Given the description of an element on the screen output the (x, y) to click on. 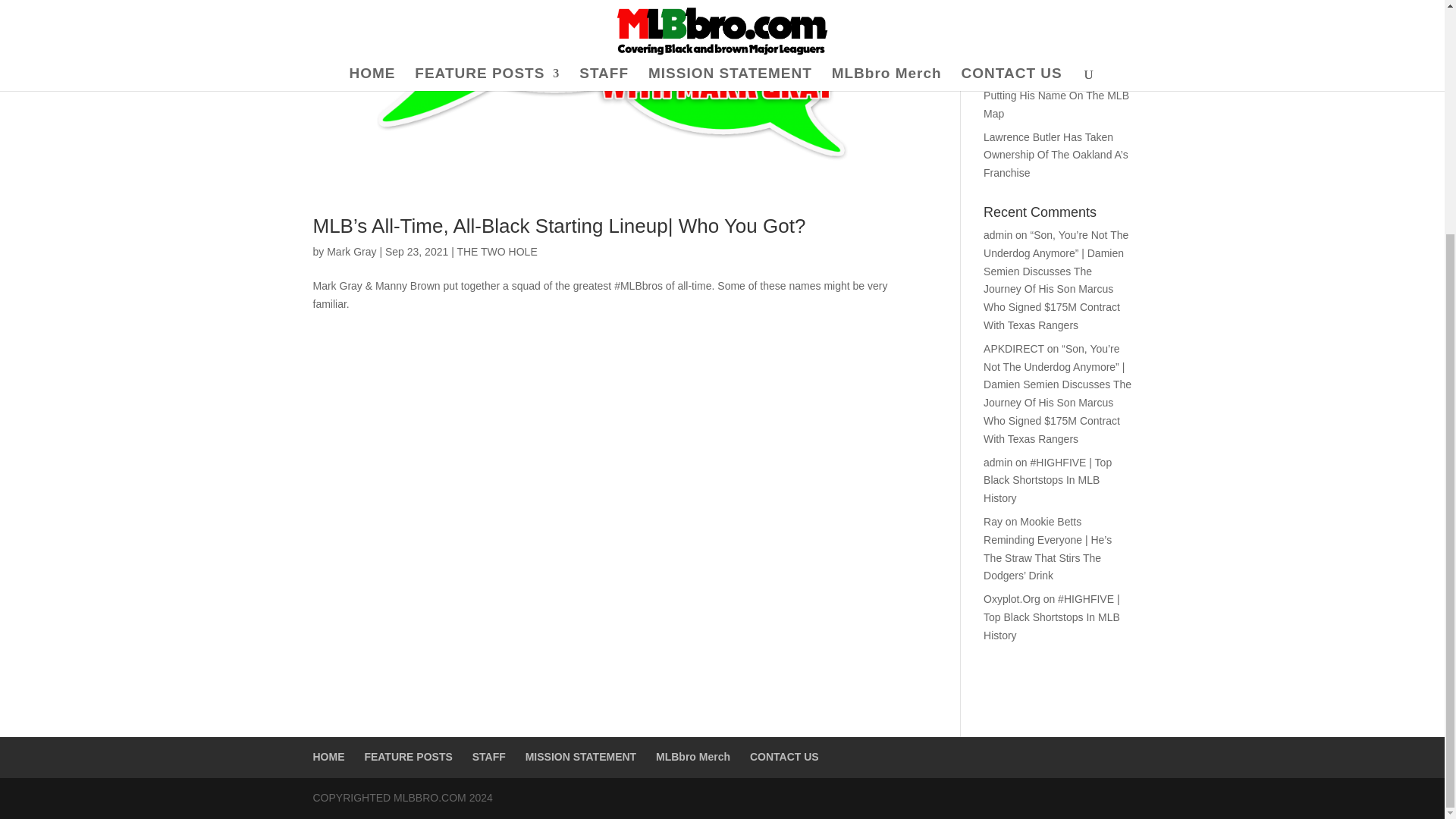
Mark Gray (350, 251)
Oxyplot.Org (1012, 598)
APKDIRECT (1013, 348)
Posts by Mark Gray (350, 251)
admin (997, 234)
admin (997, 462)
THE TWO HOLE (497, 251)
